Given the description of an element on the screen output the (x, y) to click on. 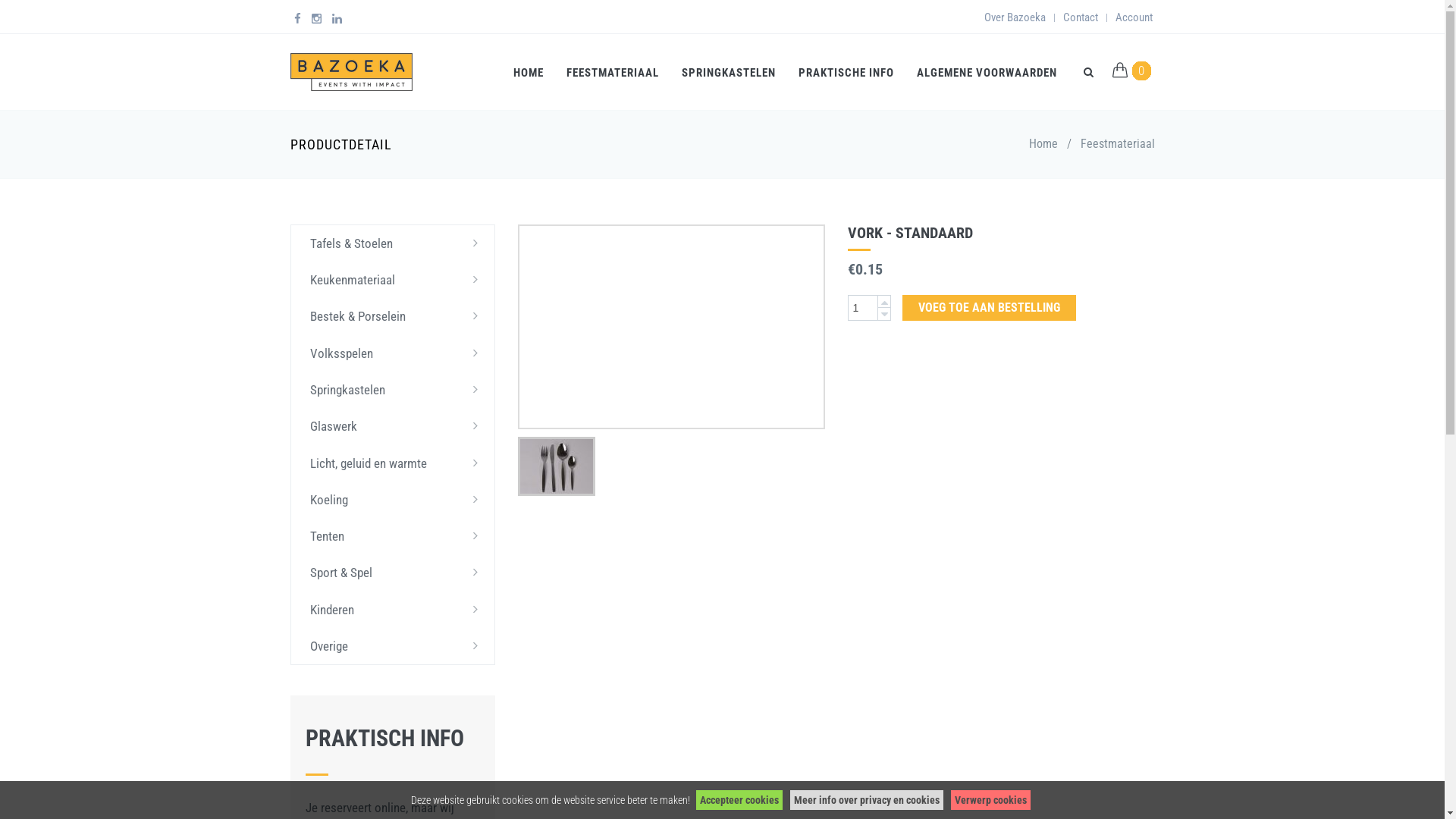
HOME Element type: text (528, 71)
Keukenmateriaal Element type: text (392, 279)
Tenten Element type: text (392, 535)
Kinderen Element type: text (392, 609)
SPRINGKASTELEN Element type: text (728, 71)
Overige Element type: text (392, 645)
Over Bazoeka Element type: text (1014, 17)
Tafels & Stoelen Element type: text (392, 243)
FEESTMATERIAAL Element type: text (612, 71)
Glaswerk Element type: text (392, 425)
Account Element type: text (1132, 17)
Bestek & Porselein Element type: text (392, 316)
Volksspelen Element type: text (392, 353)
0 Element type: text (1141, 70)
Sport & Spel Element type: text (392, 572)
Verwerp cookies Element type: text (990, 799)
Licht, geluid en warmte Element type: text (392, 463)
Accepteer cookies Element type: text (739, 799)
Koeling Element type: text (392, 499)
Home Element type: text (1042, 143)
Voeg toe aan bestelling Element type: text (989, 307)
ALGEMENE VOORWAARDEN Element type: text (986, 71)
Meer info over privacy en cookies Element type: text (866, 799)
PRAKTISCHE INFO Element type: text (846, 71)
Springkastelen Element type: text (392, 389)
Contact Element type: text (1080, 17)
